Given the description of an element on the screen output the (x, y) to click on. 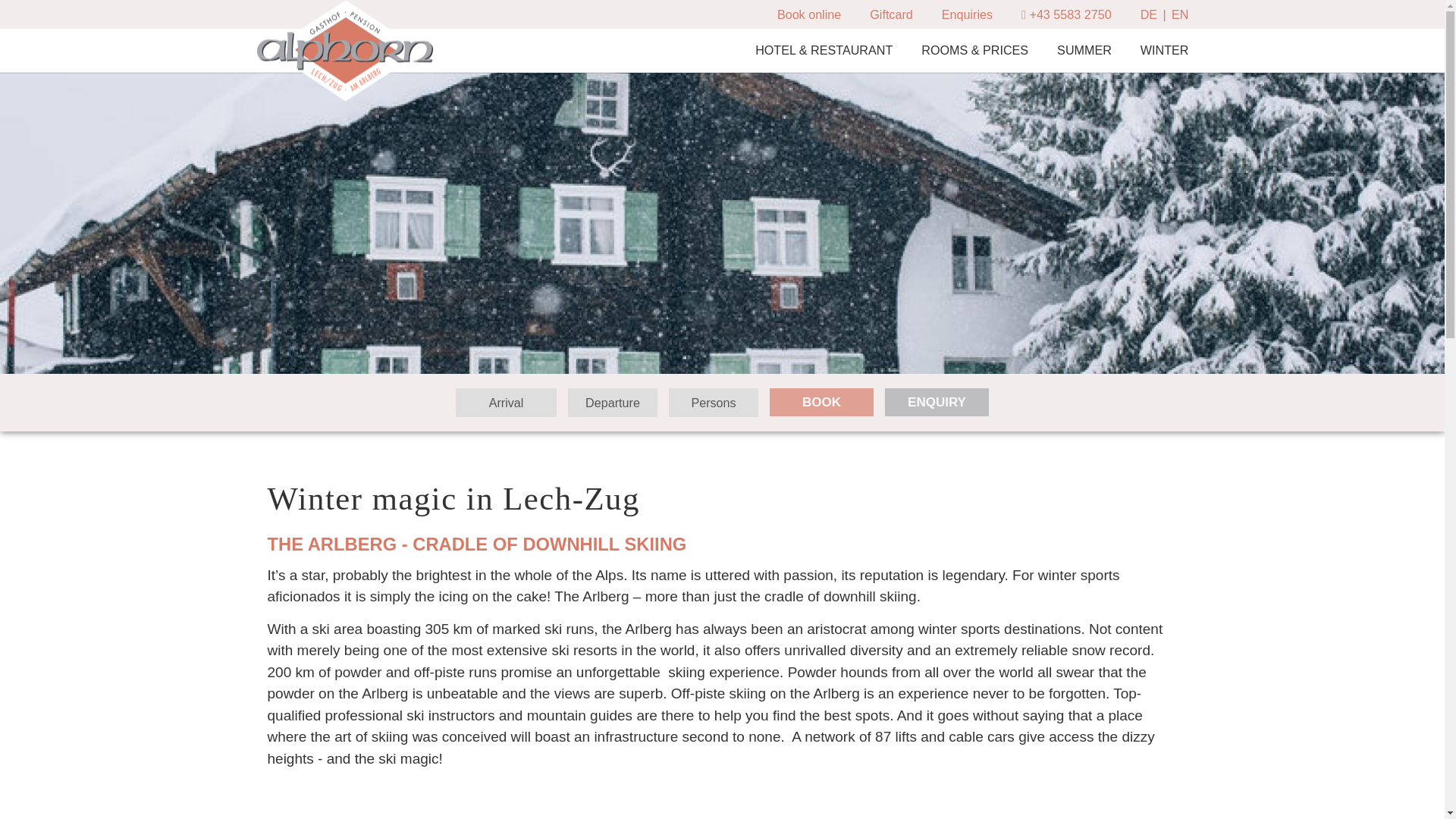
Arrival (505, 402)
To the frontpage (344, 51)
Persons (713, 402)
WINTER (1164, 50)
Giftcard (890, 14)
Enquiries (967, 14)
ENQUIRY (936, 402)
SUMMER (1084, 50)
Book online (809, 14)
BOOK (821, 402)
